Given the description of an element on the screen output the (x, y) to click on. 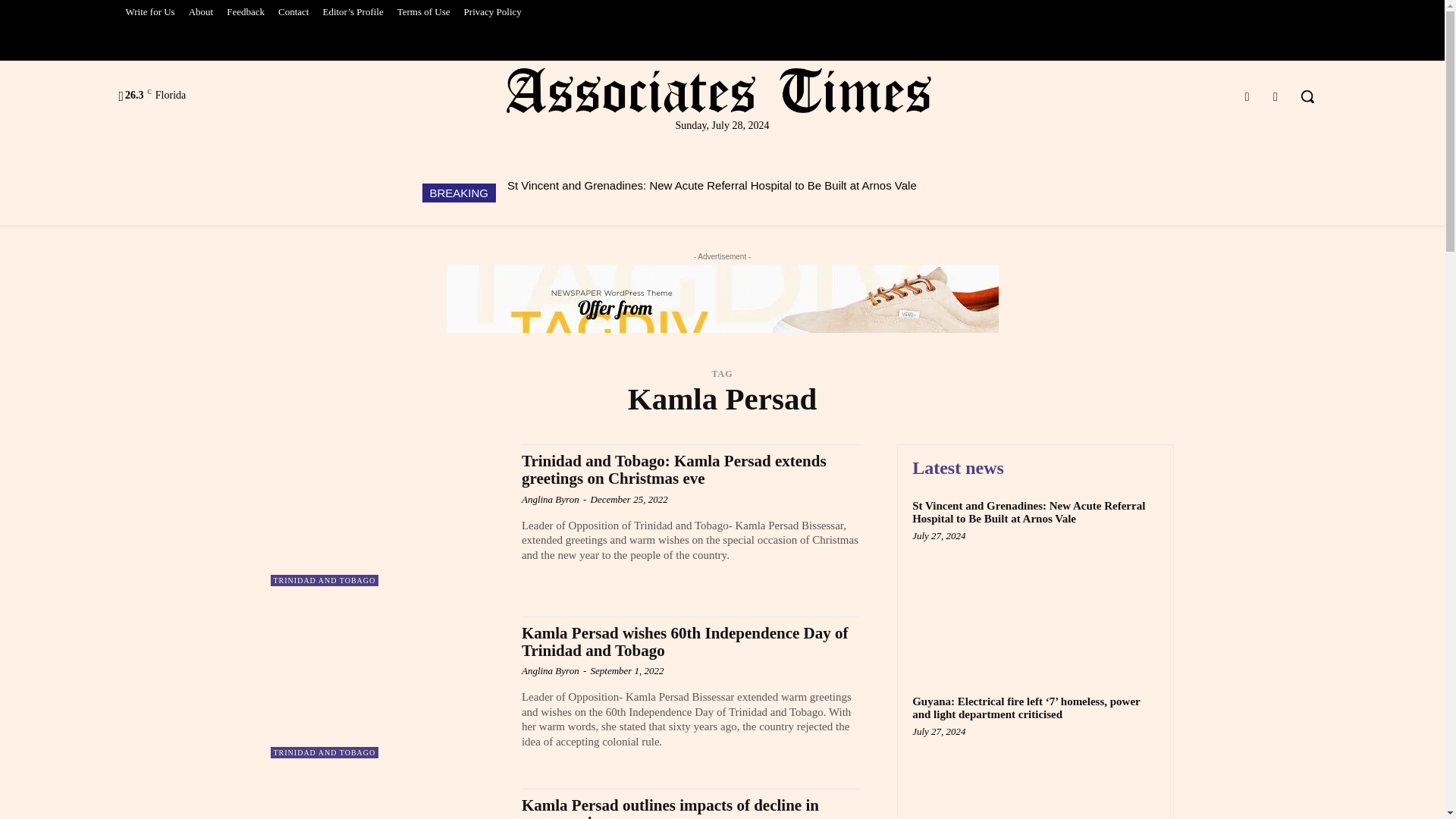
Twitter (1275, 96)
Facebook (1246, 96)
